Given the description of an element on the screen output the (x, y) to click on. 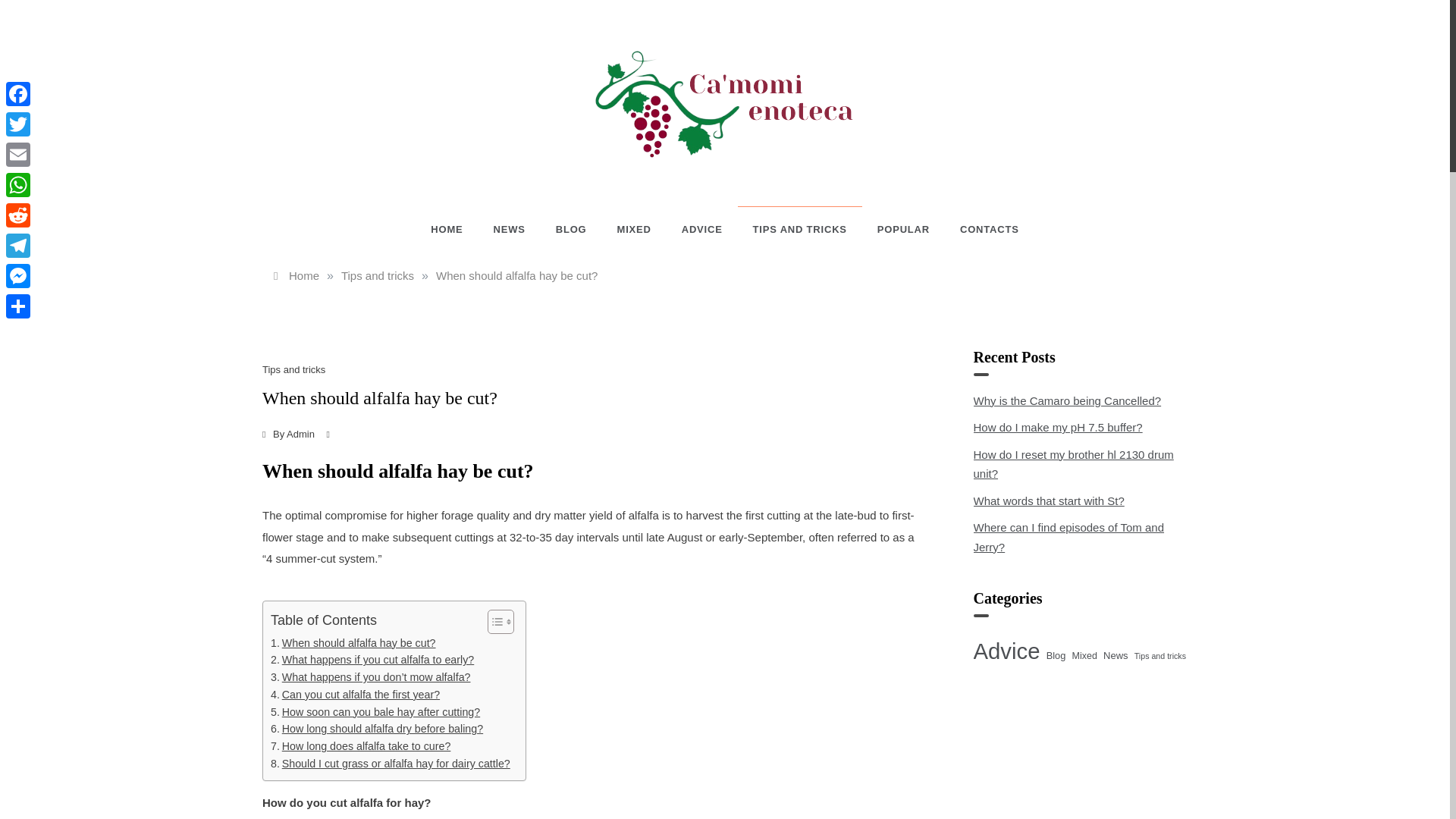
When should alfalfa hay be cut? (352, 642)
Can you cut alfalfa the first year? (354, 694)
When should alfalfa hay be cut? (515, 275)
Camomienoteca.com (747, 183)
How long should alfalfa dry before baling? (376, 728)
Email (17, 154)
HOME (453, 229)
How long should alfalfa dry before baling? (376, 728)
How soon can you bale hay after cutting? (375, 712)
Tips and tricks (295, 369)
Admin (300, 432)
How long does alfalfa take to cure? (359, 746)
Twitter (17, 123)
Can you cut alfalfa the first year? (354, 694)
BLOG (571, 229)
